Given the description of an element on the screen output the (x, y) to click on. 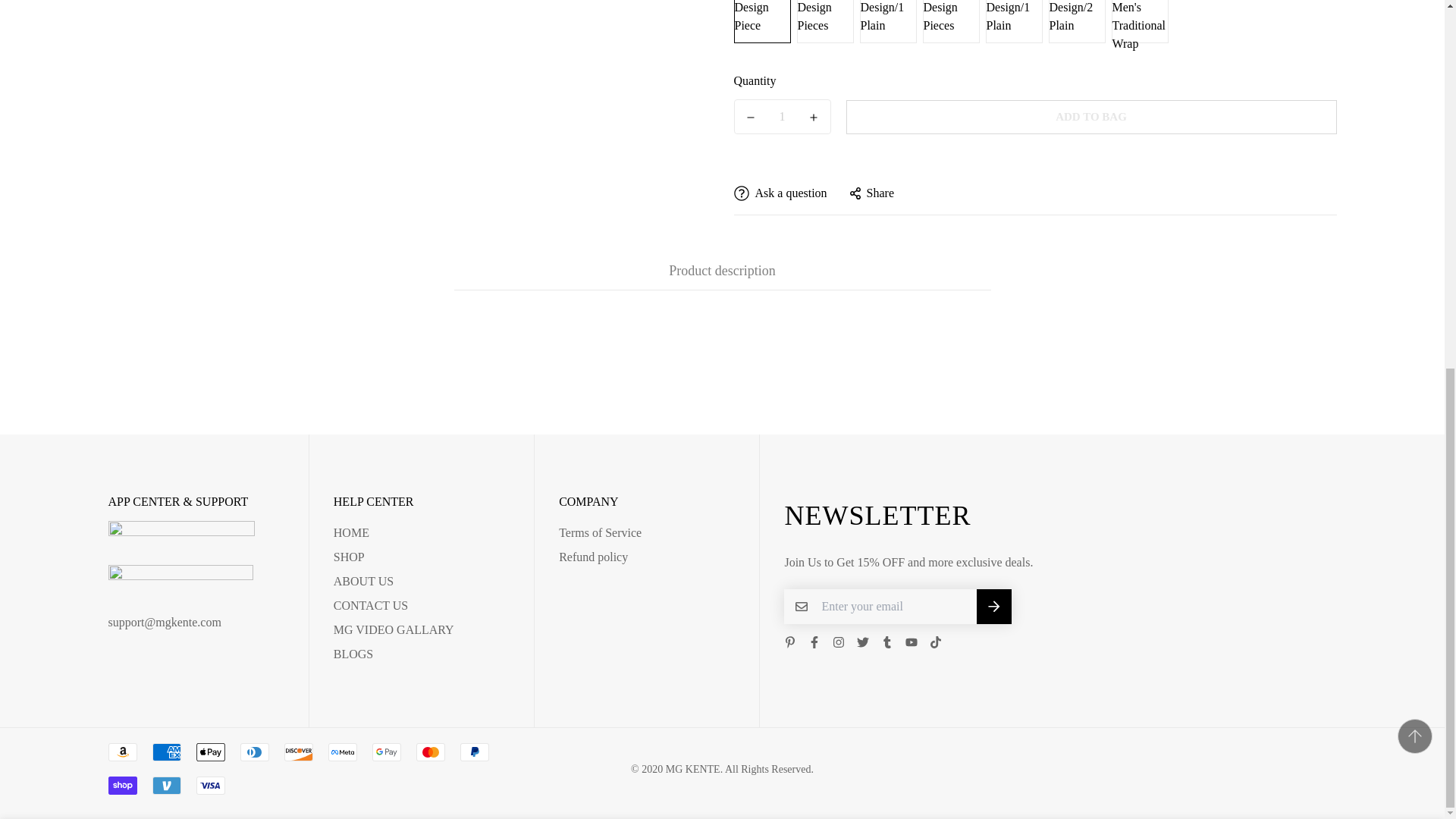
1 (1031, 181)
mgkente android app (195, 542)
1 (782, 92)
Mgkente Ios app (195, 589)
